Given the description of an element on the screen output the (x, y) to click on. 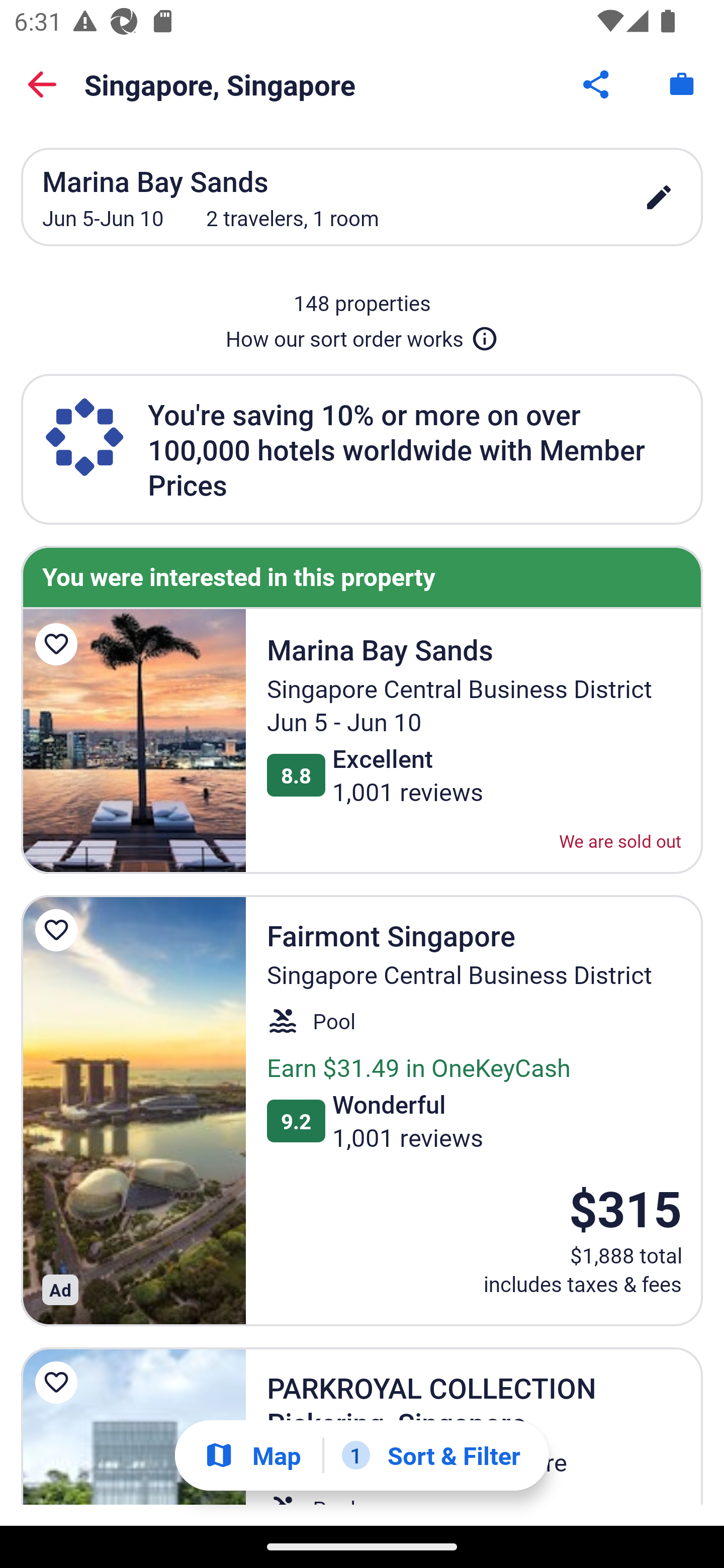
Back (42, 84)
Share Button (597, 84)
Trips. Button (681, 84)
How our sort order works (361, 334)
Save Marina Bay Sands to a trip (59, 644)
Marina Bay Sands (133, 740)
Save Fairmont Singapore to a trip (59, 929)
Fairmont Singapore (133, 1110)
1 Sort & Filter 1 Filter applied. Filters Button (430, 1455)
Show map Map Show map Button (252, 1455)
